Given the description of an element on the screen output the (x, y) to click on. 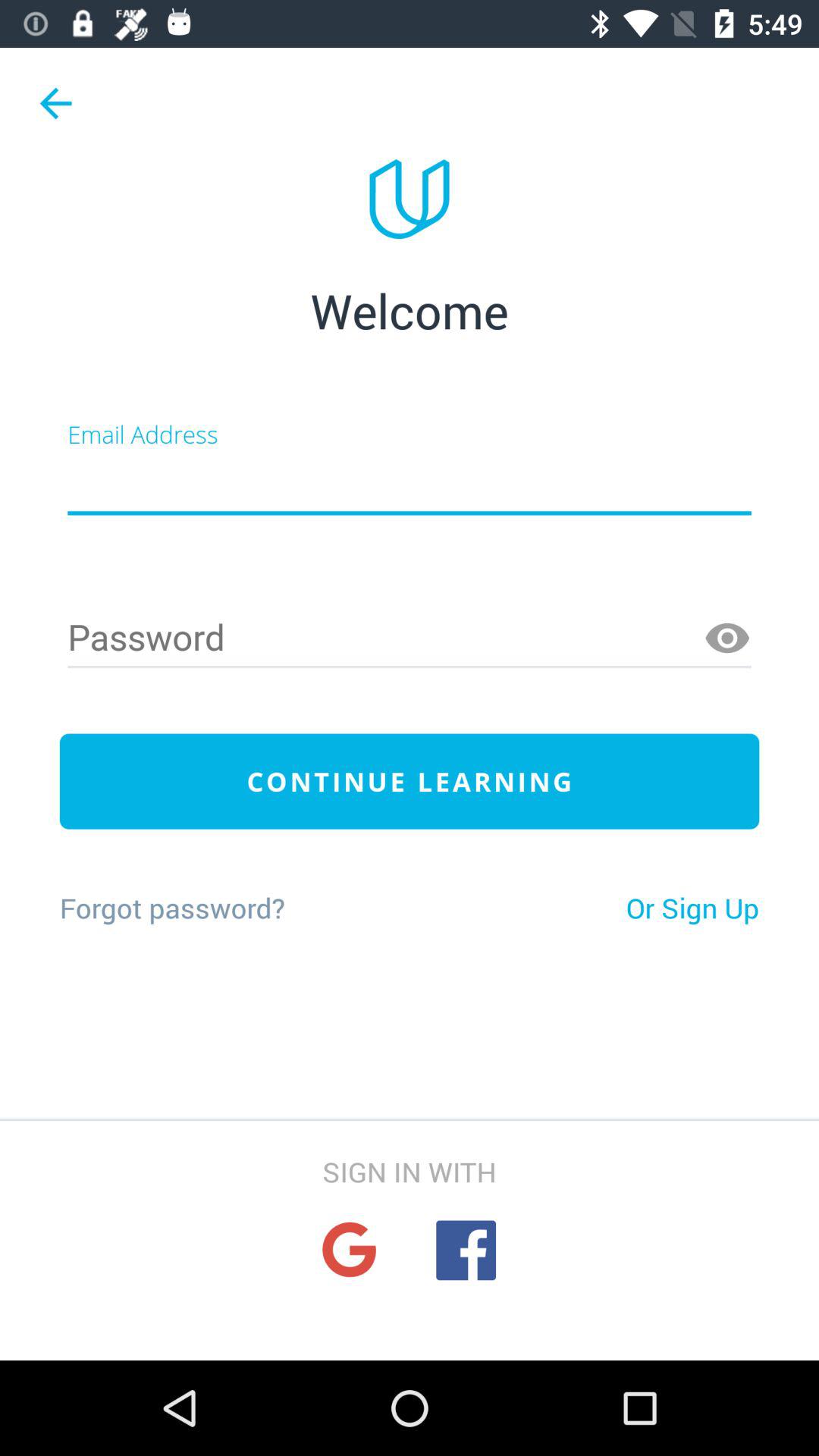
icons are large (348, 1249)
